Given the description of an element on the screen output the (x, y) to click on. 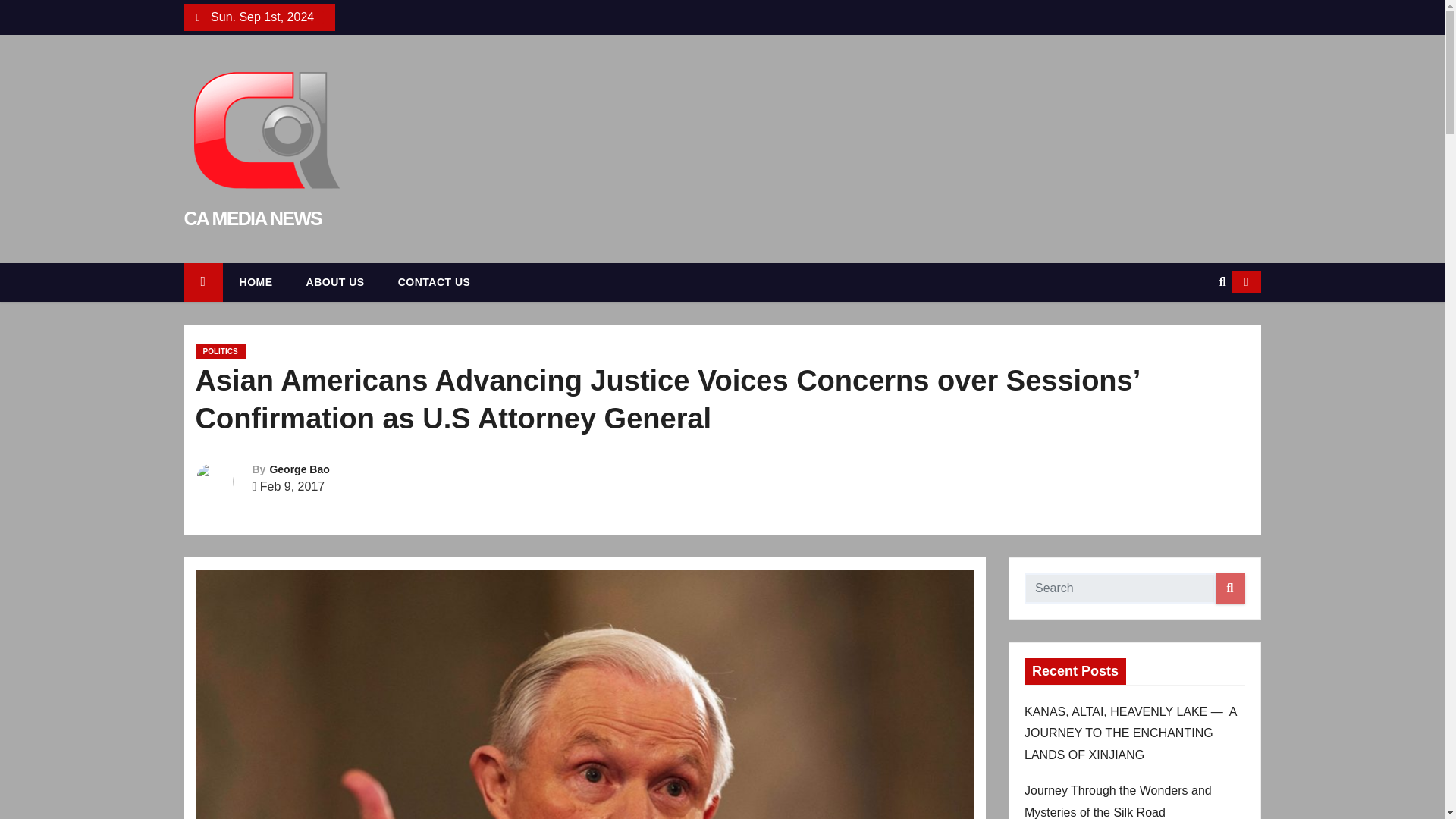
CONTACT US (434, 282)
POLITICS (220, 351)
George Bao (299, 469)
ABOUT US (335, 282)
CA MEDIA NEWS (252, 218)
ABOUT US (335, 282)
HOME (255, 282)
Home (202, 282)
CONTACT US (434, 282)
HOME (255, 282)
